Given the description of an element on the screen output the (x, y) to click on. 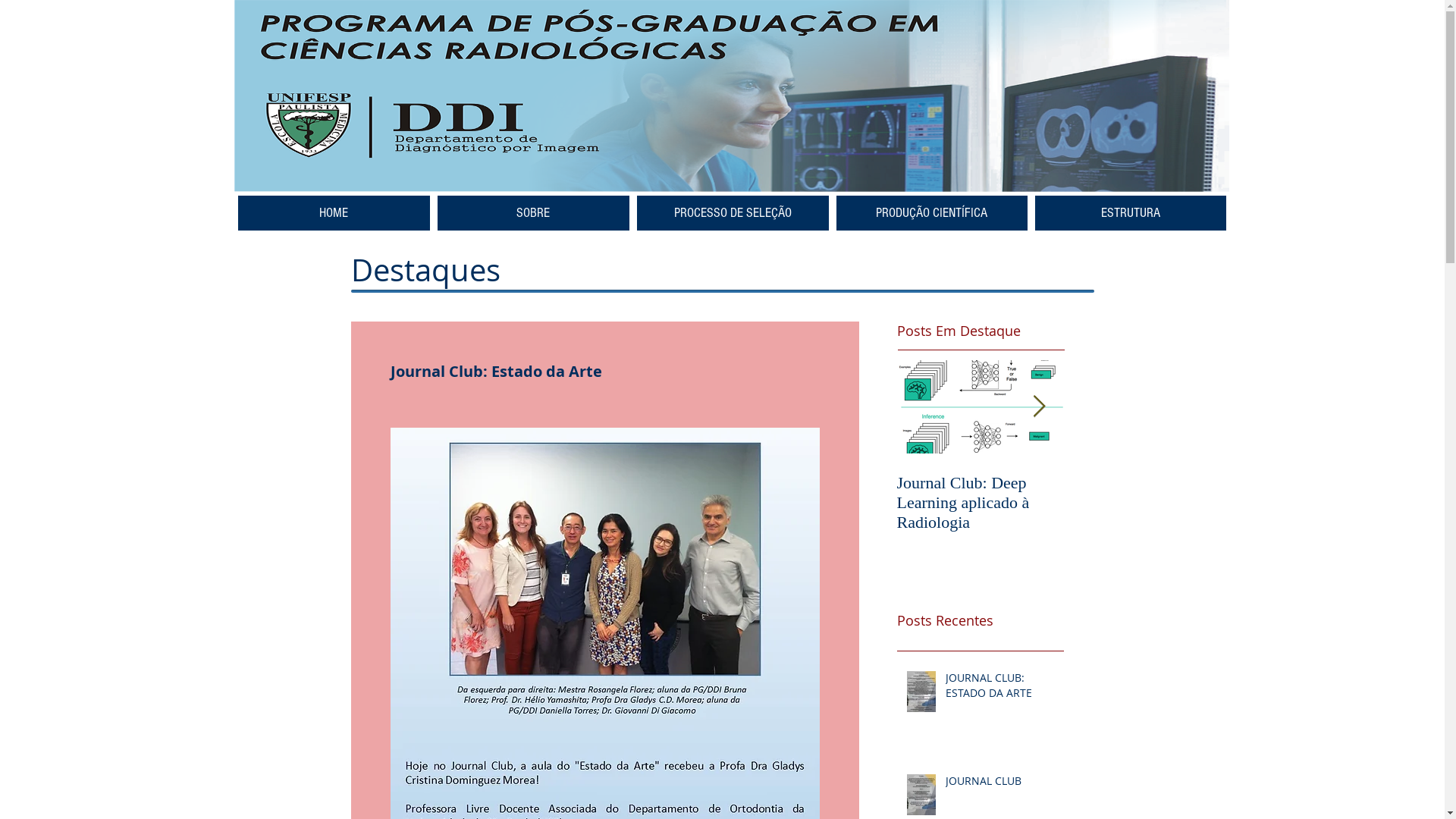
ESTRUTURA Element type: text (1129, 212)
HOME Element type: text (333, 212)
SOBRE Element type: text (532, 212)
JOURNAL CLUB Element type: text (999, 783)
Destaques Element type: text (424, 269)
BANNERpg versao.png Element type: hover (730, 95)
Site Search Element type: hover (1114, 30)
JOURNAL CLUB: ESTADO DA ARTE Element type: text (999, 688)
